Given the description of an element on the screen output the (x, y) to click on. 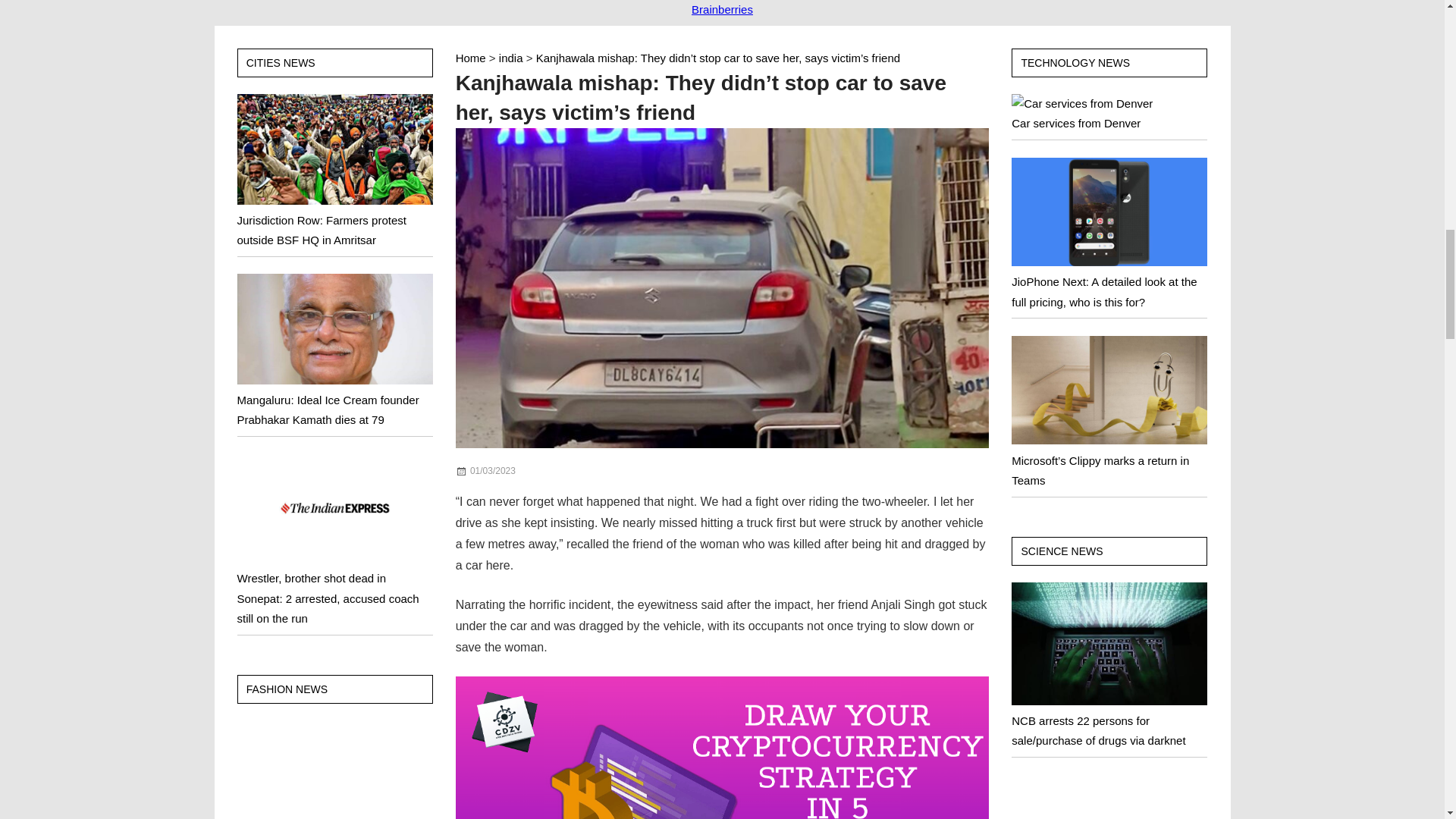
india (550, 470)
Jurisdiction Row: Farmers protest outside BSF HQ in Amritsar (320, 229)
Scott (551, 470)
Go to BINJ.IN (470, 57)
india (510, 57)
Home (470, 57)
16:30 (492, 470)
